Given the description of an element on the screen output the (x, y) to click on. 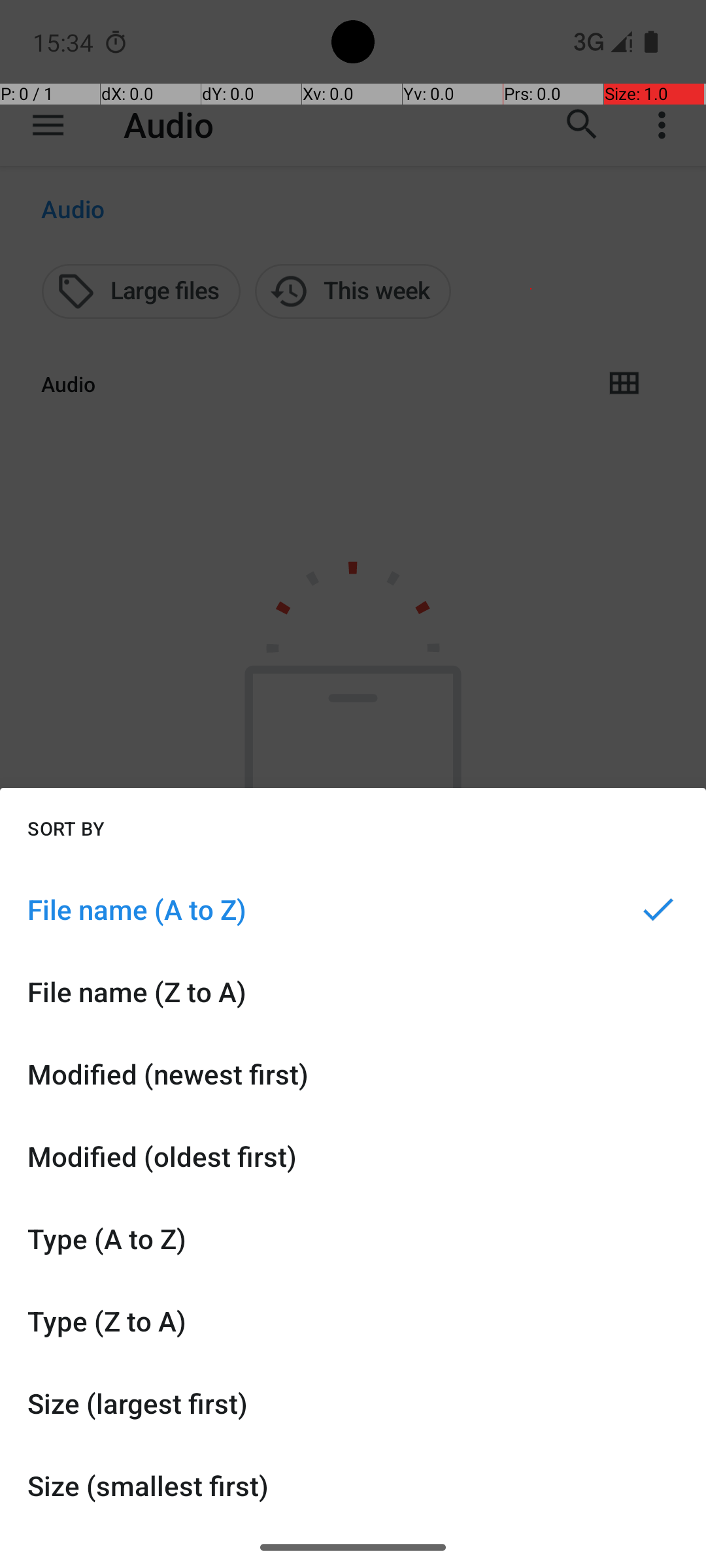
SORT BY Element type: android.widget.TextView (66, 827)
File name (A to Z) Element type: android.widget.CheckedTextView (353, 909)
File name (Z to A) Element type: android.widget.CheckedTextView (353, 991)
Modified (newest first) Element type: android.widget.CheckedTextView (353, 1073)
Modified (oldest first) Element type: android.widget.CheckedTextView (353, 1156)
Type (A to Z) Element type: android.widget.CheckedTextView (353, 1238)
Type (Z to A) Element type: android.widget.CheckedTextView (353, 1320)
Size (largest first) Element type: android.widget.CheckedTextView (353, 1403)
Size (smallest first) Element type: android.widget.CheckedTextView (353, 1485)
